Given the description of an element on the screen output the (x, y) to click on. 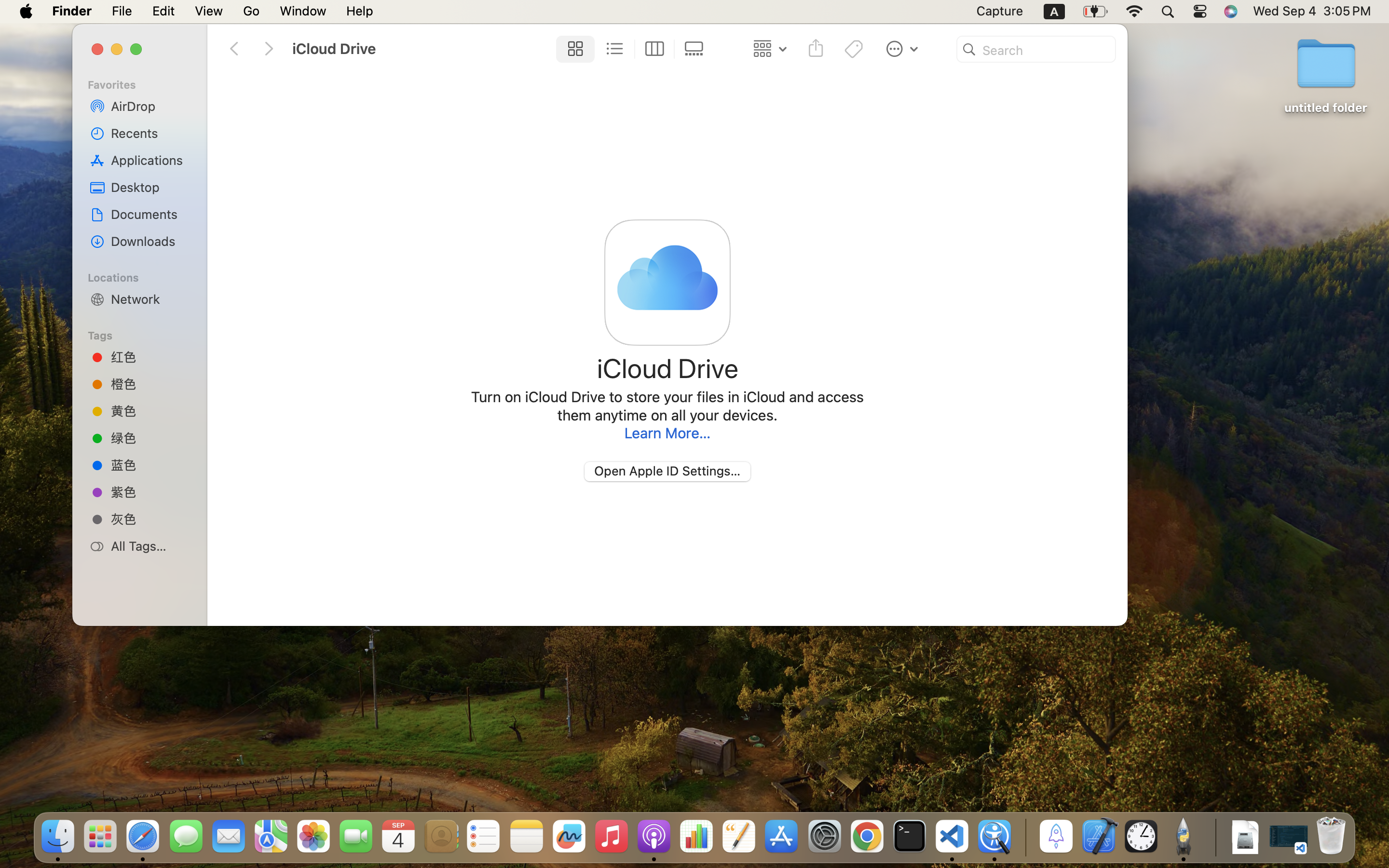
<AXUIElement 0x13f6a1b70> {pid=510} Element type: AXRadioGroup (633, 48)
Favorites Element type: AXStaticText (144, 83)
Documents Element type: AXStaticText (149, 213)
绿色 Element type: AXStaticText (149, 437)
AirDrop Element type: AXStaticText (149, 105)
